Given the description of an element on the screen output the (x, y) to click on. 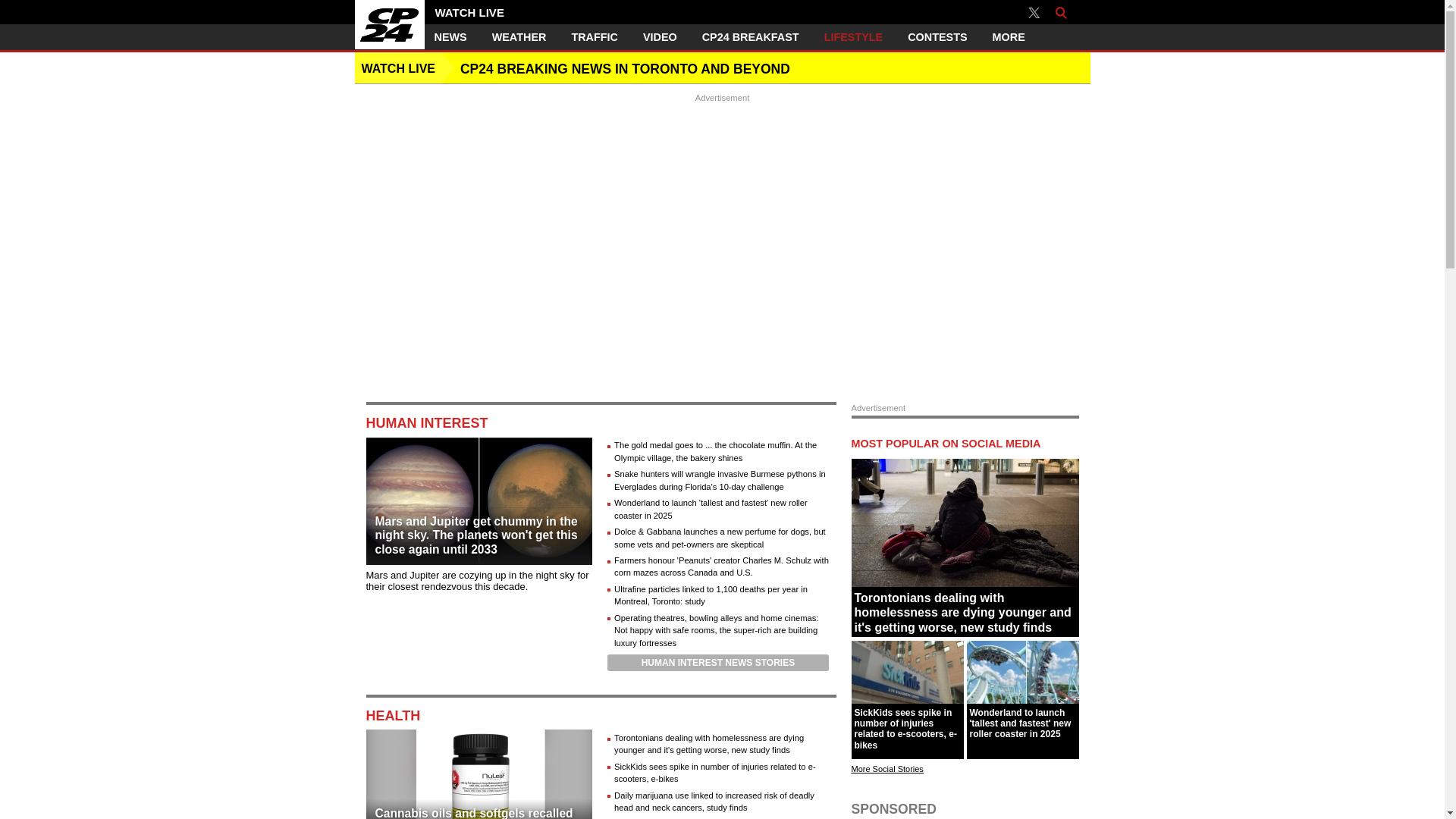
WEATHER (519, 37)
CONTESTS (936, 37)
Weather (519, 37)
Contests (936, 37)
WATCH LIVE (477, 11)
CP24.com (390, 24)
